Given the description of an element on the screen output the (x, y) to click on. 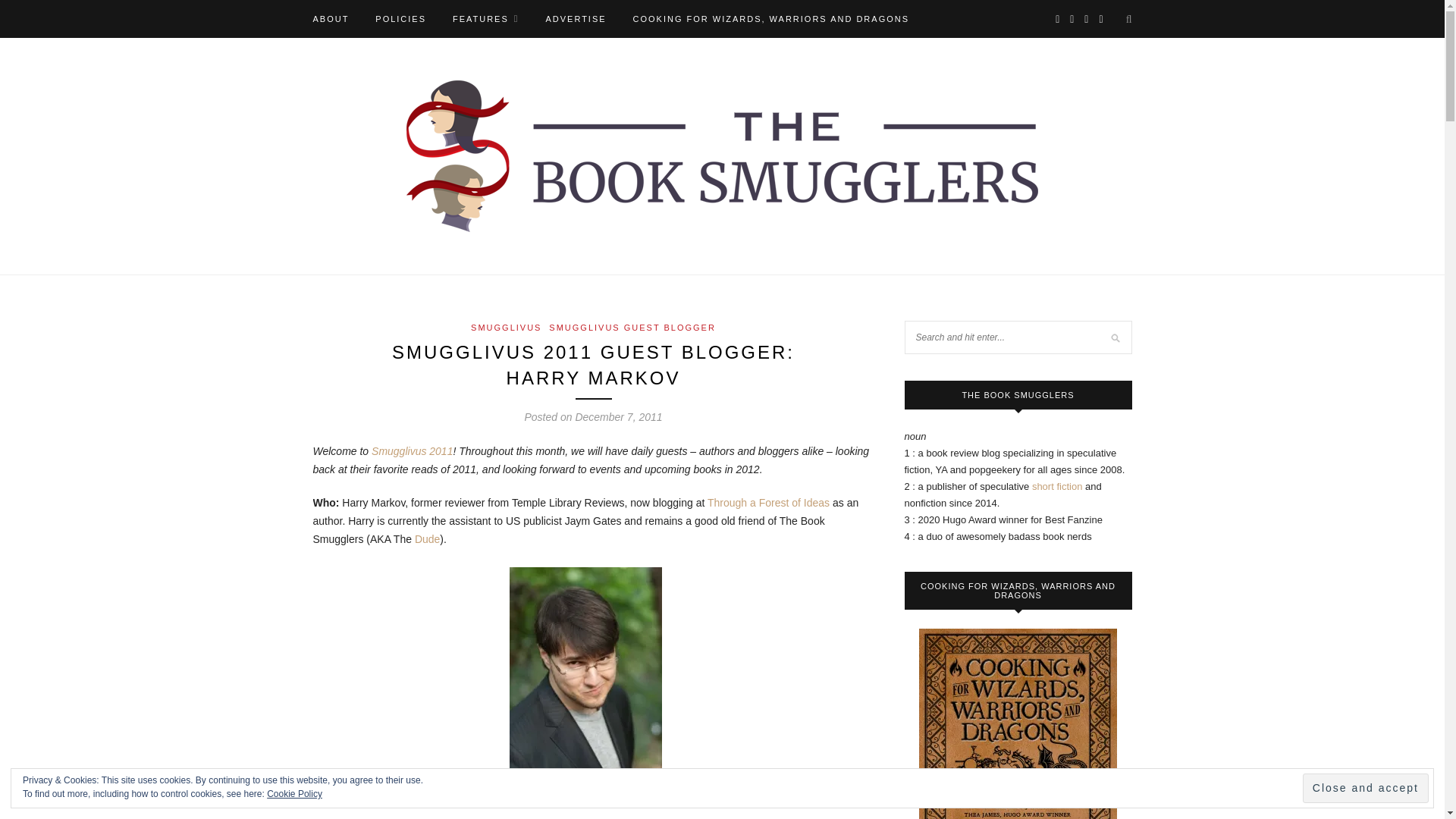
POLICIES (400, 18)
SMUGGLIVUS GUEST BLOGGER (632, 327)
Through a Forest of Ideas (768, 502)
Smugglivus 2011 (411, 451)
Close and accept (1365, 788)
ADVERTISE (574, 18)
SMUGGLIVUS (505, 327)
COOKING FOR WIZARDS, WARRIORS AND DRAGONS (769, 18)
ABOUT (331, 18)
Dude (426, 539)
